Given the description of an element on the screen output the (x, y) to click on. 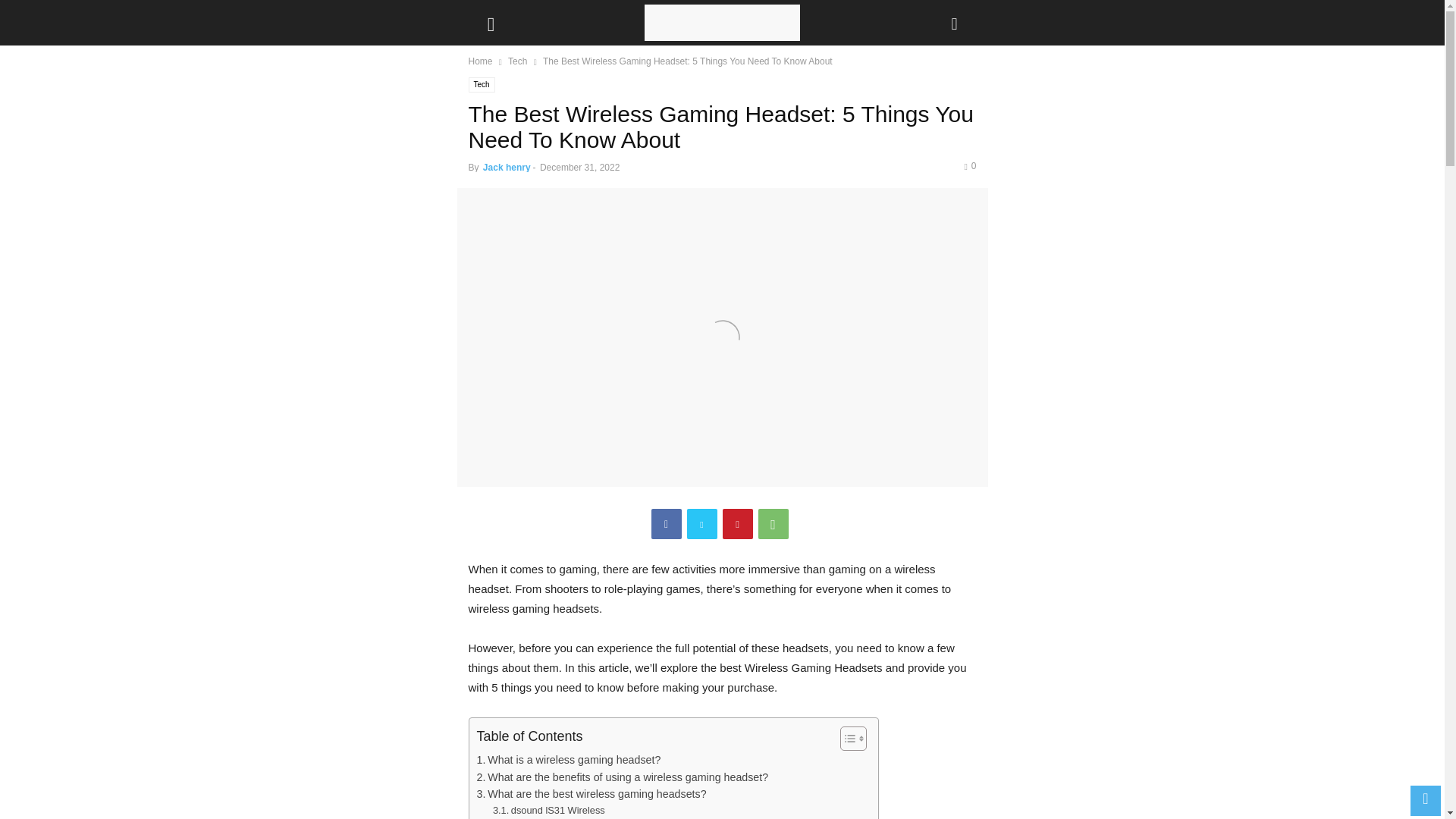
What are the benefits of using a wireless gaming headset? (622, 777)
What is a wireless gaming headset? (568, 760)
Tech (517, 61)
Twitter (702, 523)
WhatsApp (773, 523)
0 (969, 165)
View all posts in Tech (517, 61)
dsound lS31 Wireless (549, 811)
What are the benefits of using a wireless gaming headset? (622, 777)
What are the best wireless gaming headsets? (591, 794)
Home (480, 61)
Facebook (665, 523)
Pinterest (737, 523)
What is a wireless gaming headset? (568, 760)
